Given the description of an element on the screen output the (x, y) to click on. 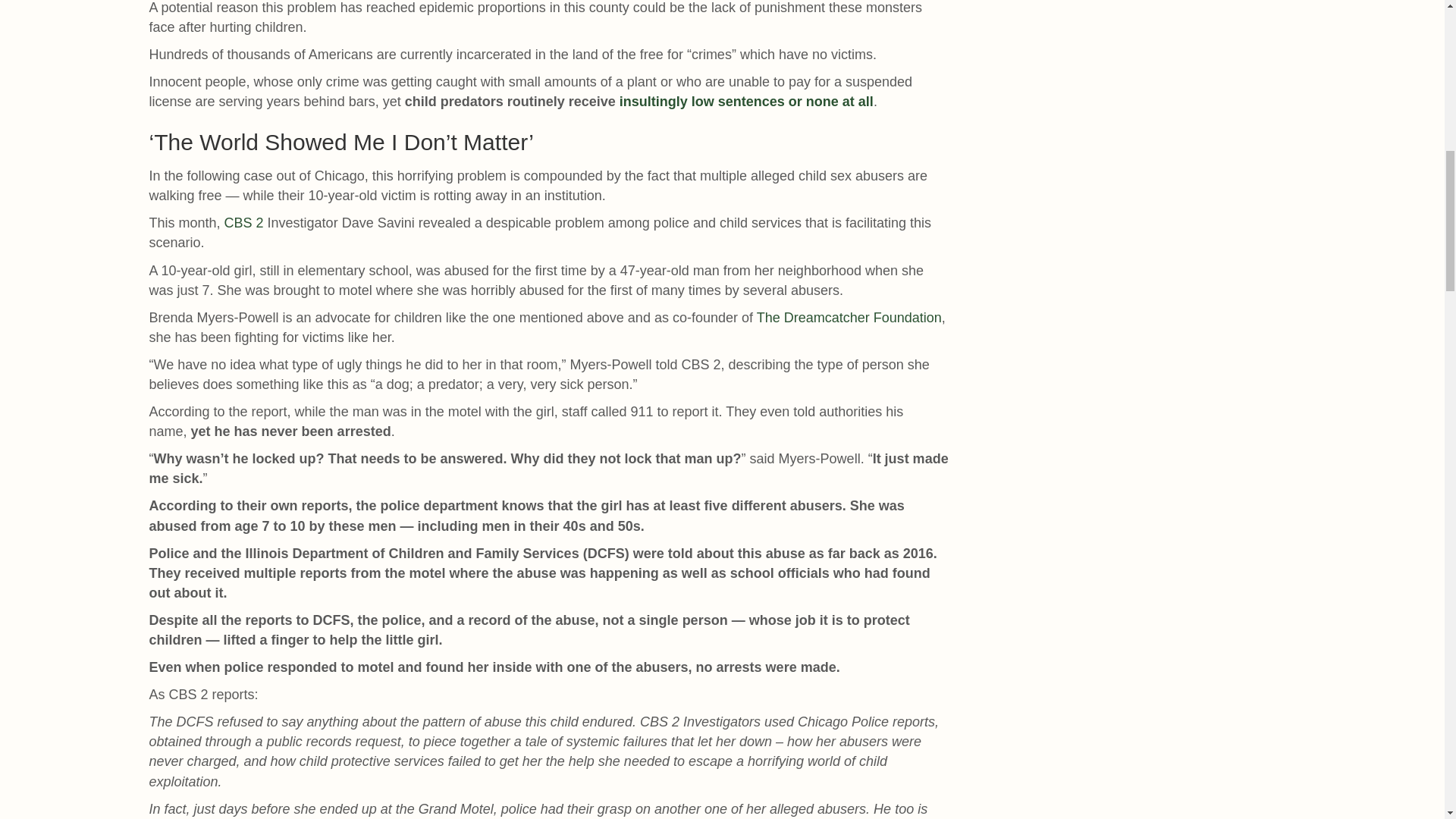
The Dreamcatcher Foundation (849, 317)
CBS 2 (243, 222)
insultingly low sentences or none at all (746, 101)
